Given the description of an element on the screen output the (x, y) to click on. 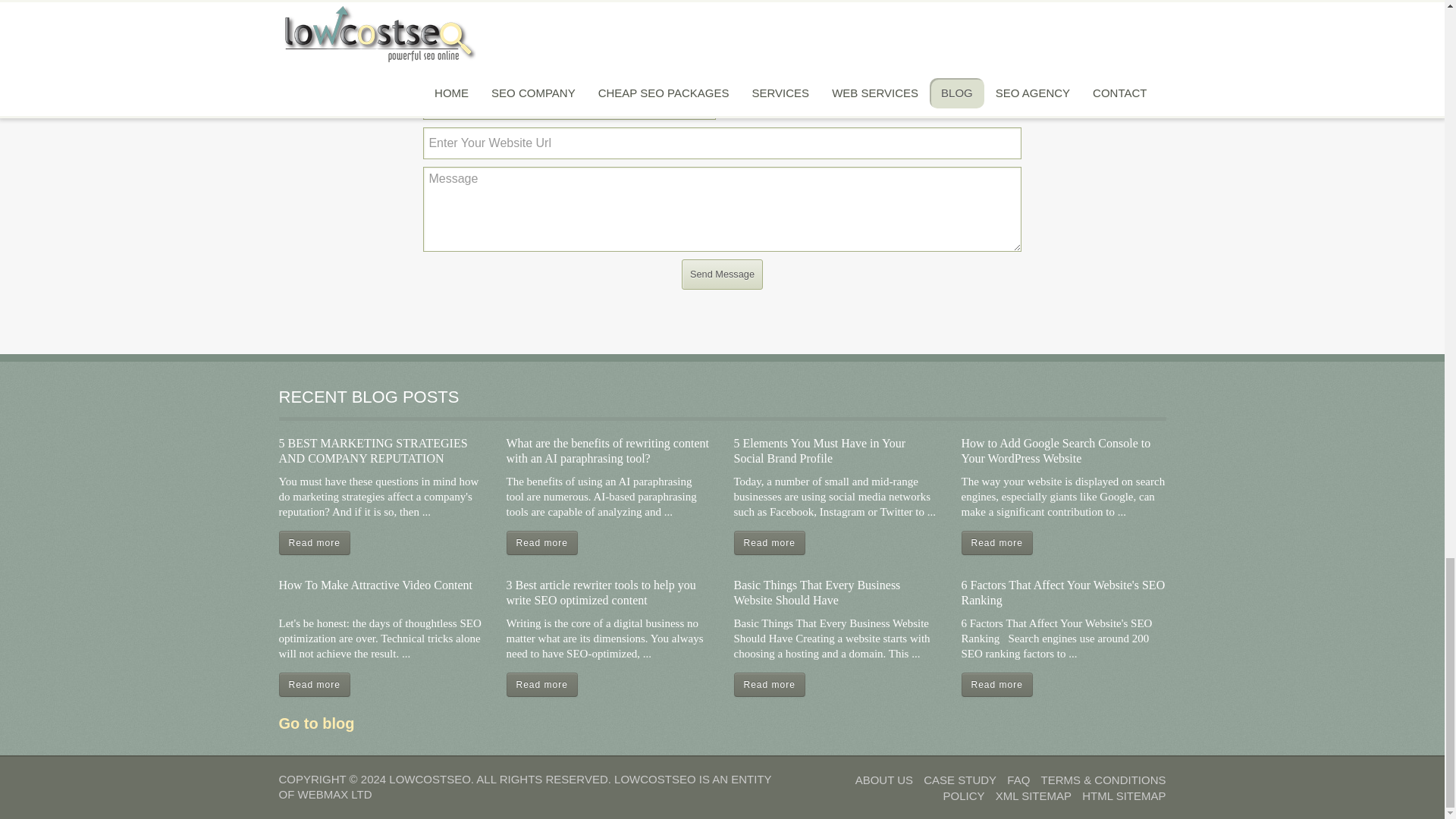
Send Message (721, 274)
